Given the description of an element on the screen output the (x, y) to click on. 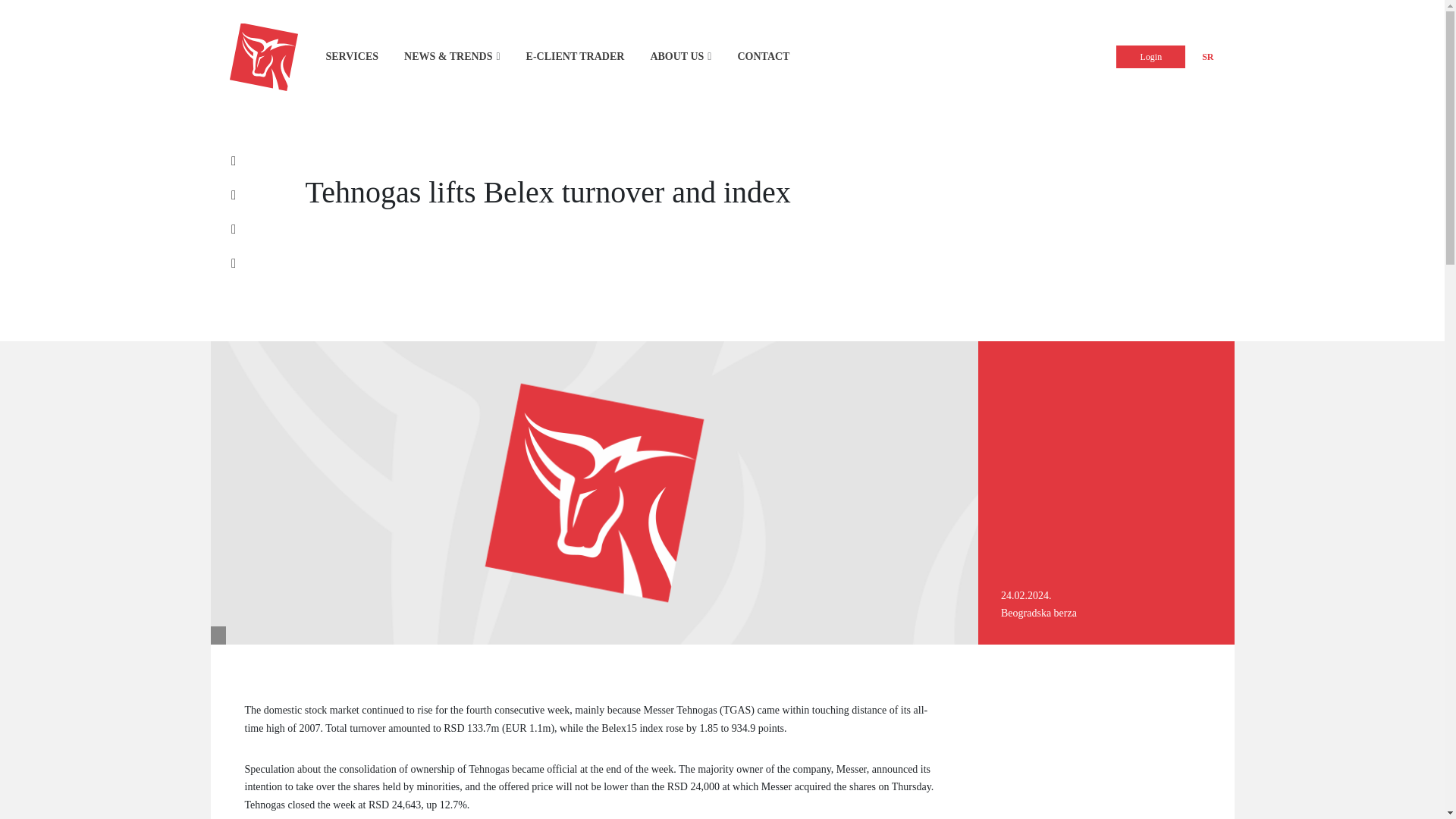
SERVICES (352, 56)
E-CLIENT TRADER (574, 56)
Login (1150, 56)
CONTACT (762, 56)
ABOUT US (676, 56)
Beogradska berza (1039, 613)
24.02.2024. (1026, 595)
